Given the description of an element on the screen output the (x, y) to click on. 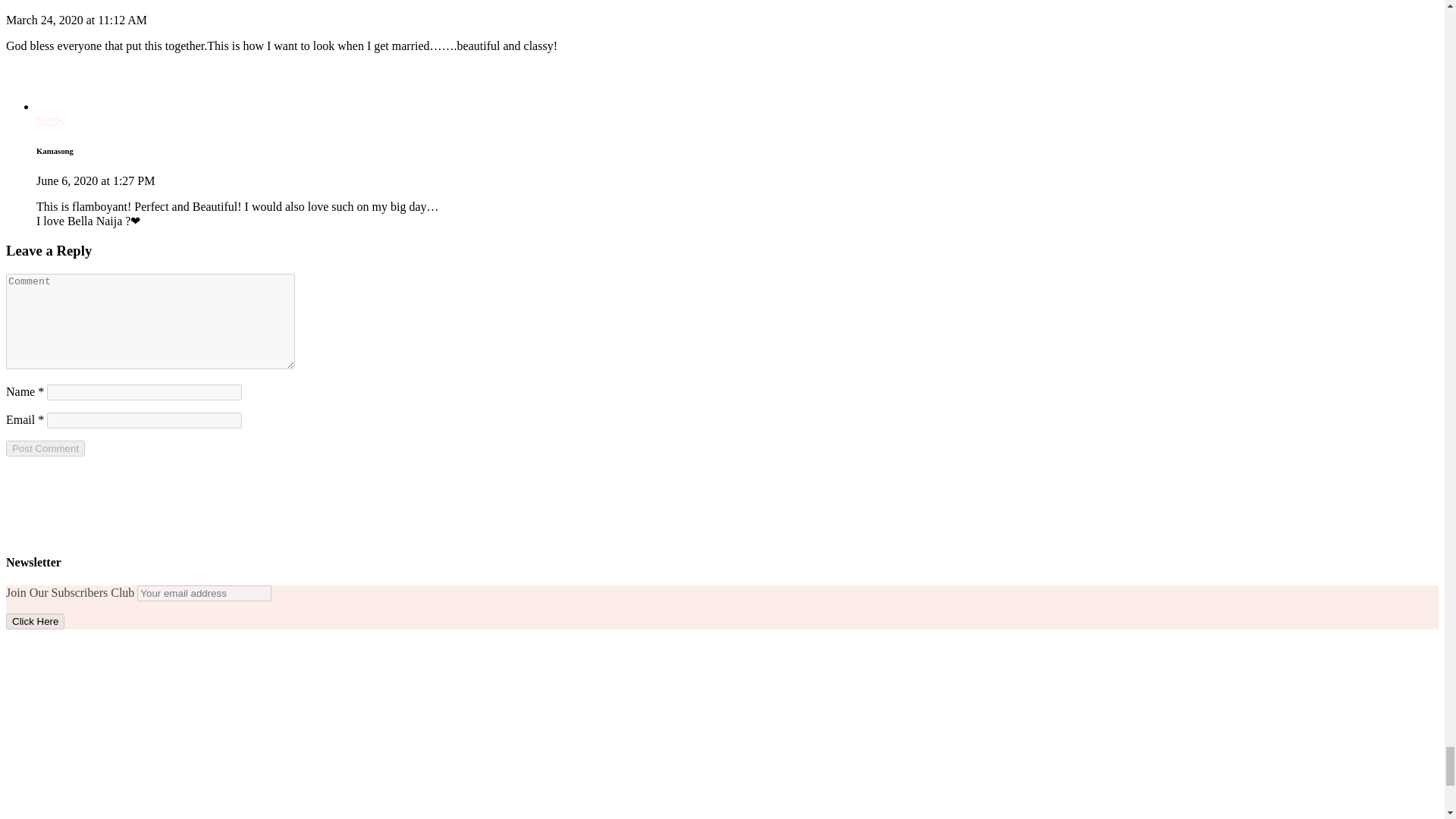
Post Comment (44, 448)
Reply (50, 119)
Post Comment (44, 448)
Click Here (34, 621)
